Given the description of an element on the screen output the (x, y) to click on. 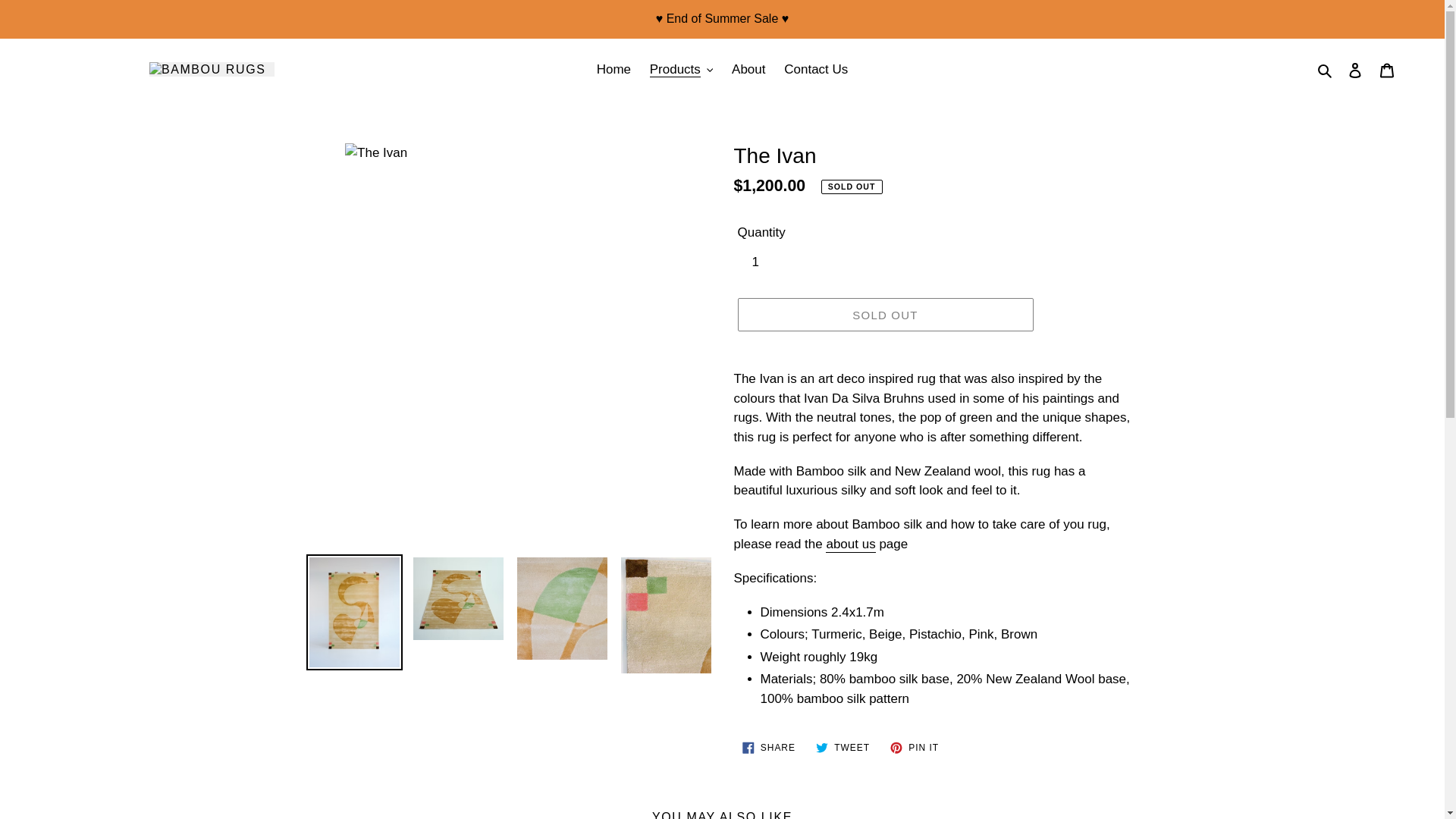
Contact Us (816, 69)
Home (614, 69)
Cart (768, 747)
About (1387, 69)
Search (748, 69)
about us (1326, 69)
Log in (850, 544)
